Given the description of an element on the screen output the (x, y) to click on. 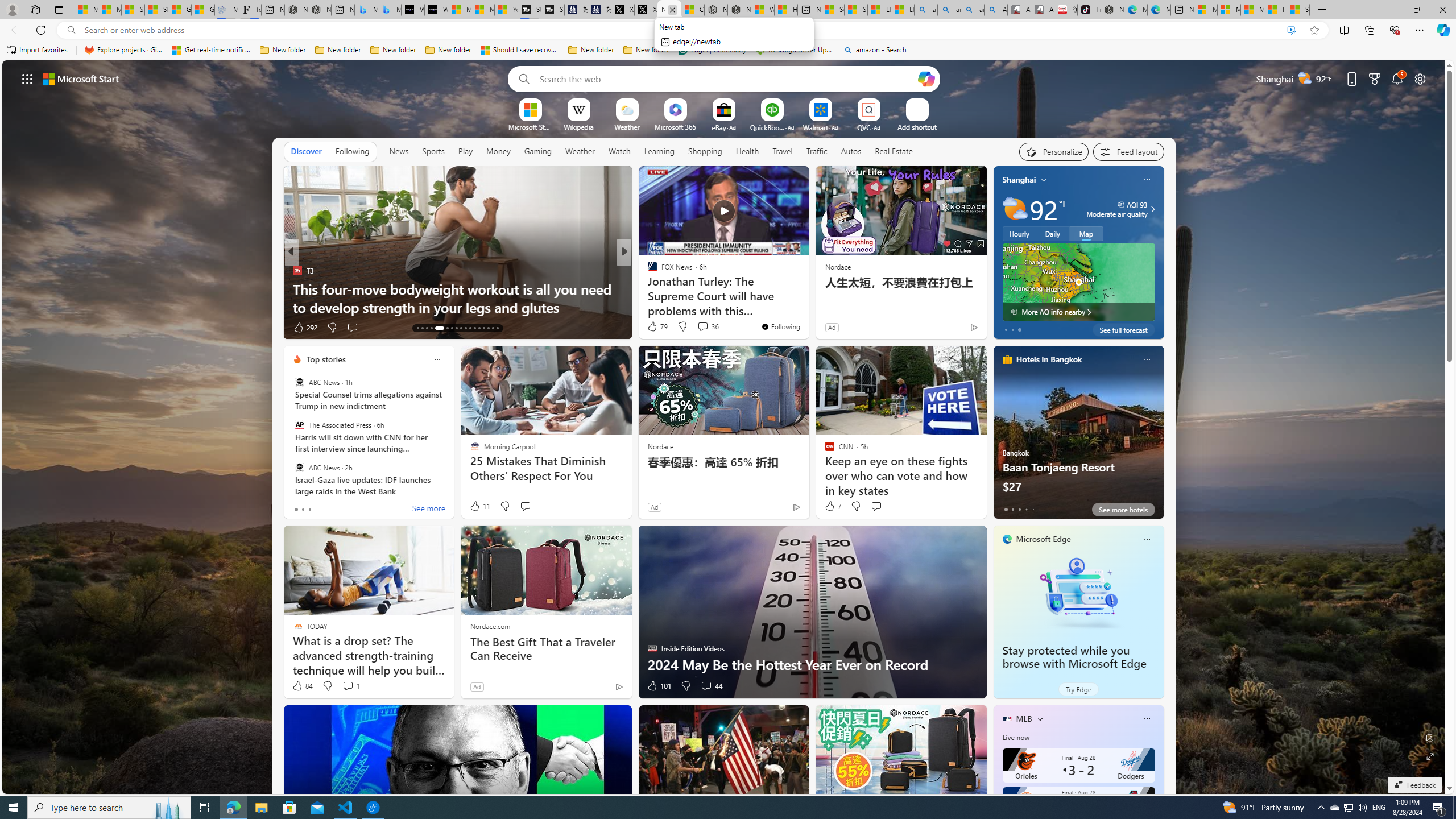
Collections (1369, 29)
Autos (850, 151)
AutomationID: backgroundImagePicture (723, 426)
Try Edge (1078, 689)
Trump Erupts Over Reindictment On Coup Attempt Charges (807, 298)
Money (497, 151)
See more hotels (1123, 509)
What's the best AI voice generator? - voice.ai (435, 9)
The prosecutor populism of Kamala Harris (807, 307)
AutomationID: tab-37 (483, 328)
News (398, 151)
40 Like (652, 327)
